Given the description of an element on the screen output the (x, y) to click on. 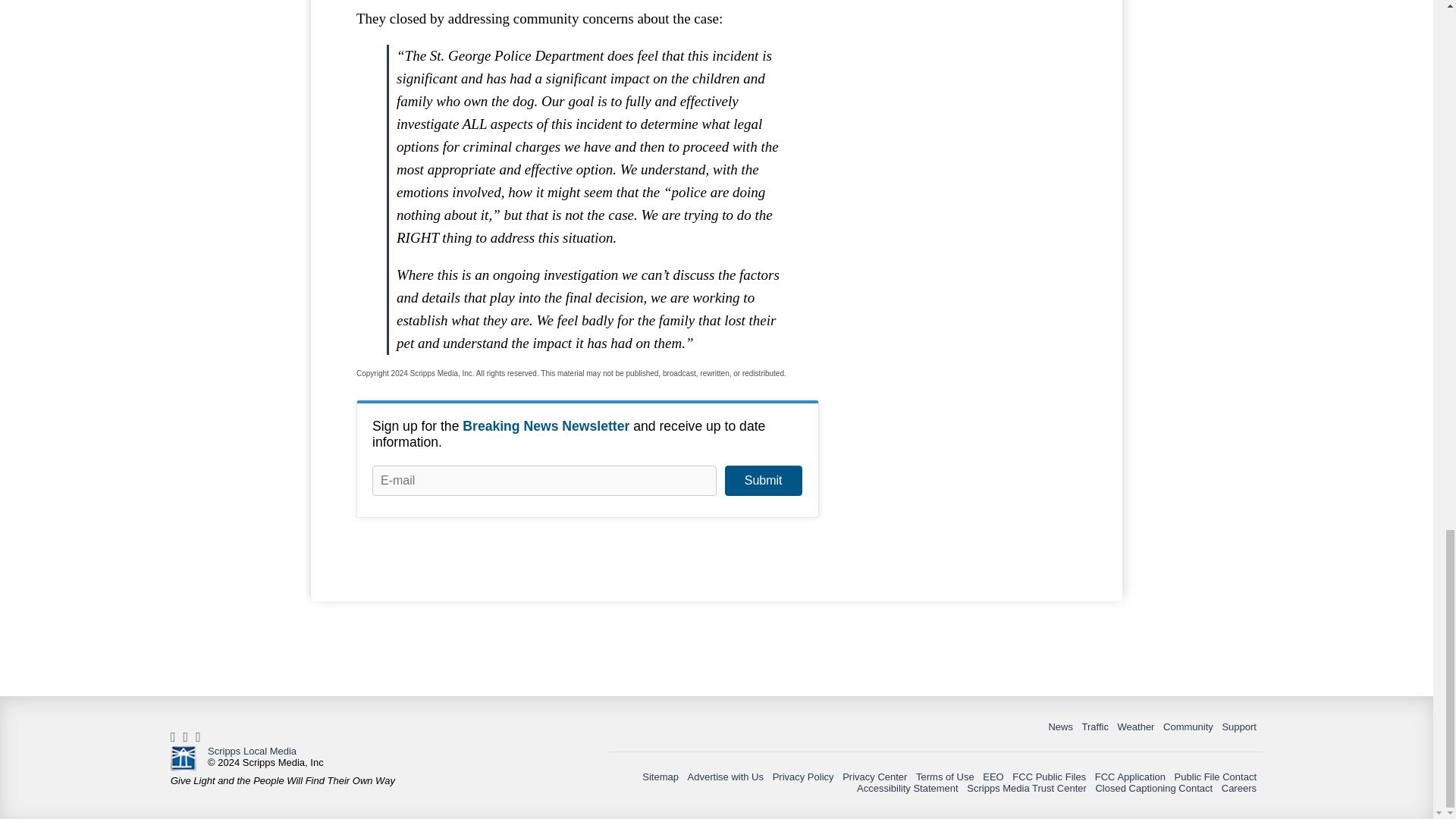
Submit (763, 481)
